Given the description of an element on the screen output the (x, y) to click on. 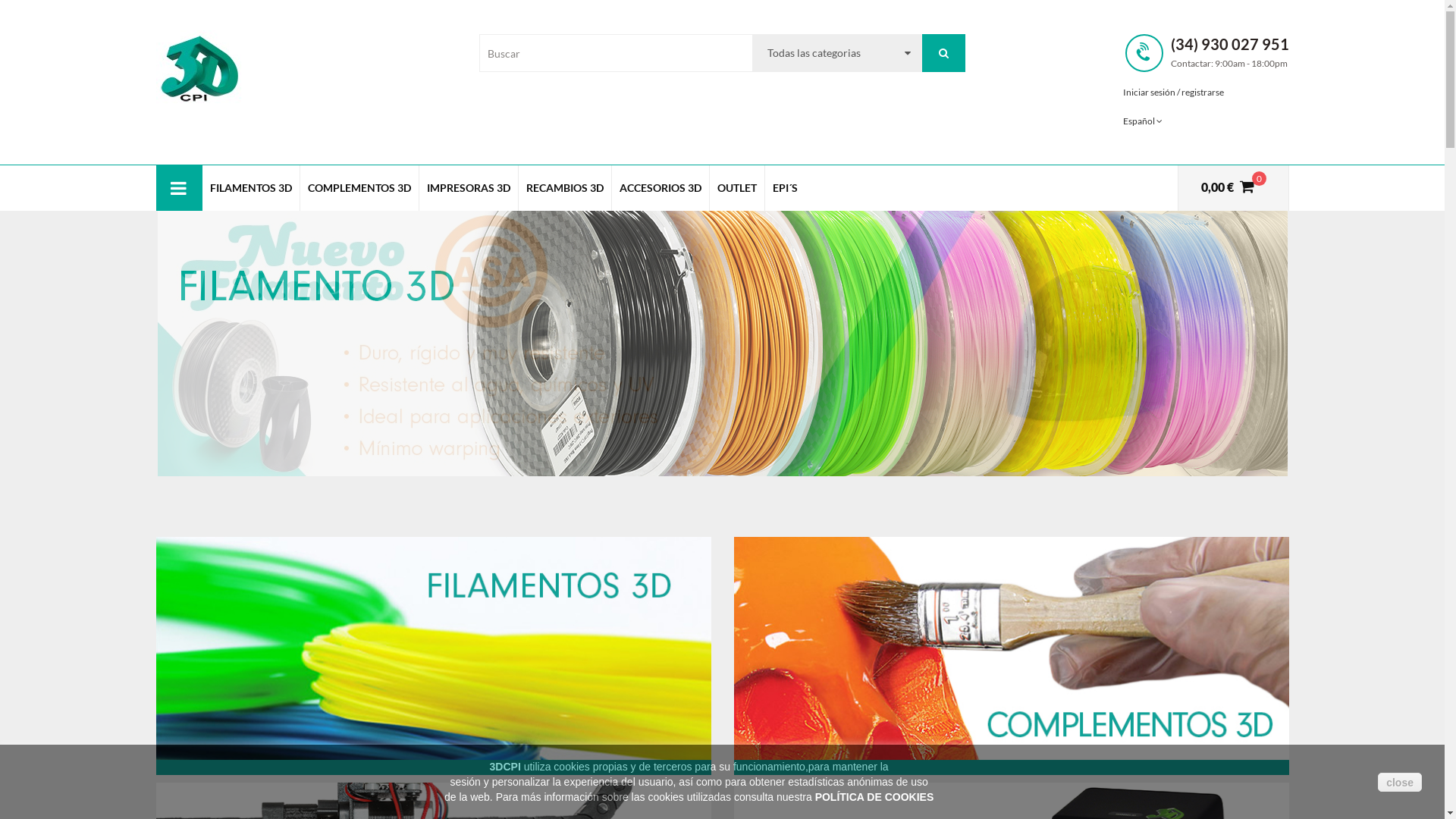
OUTLET Element type: text (736, 187)
RECAMBIOS 3D Element type: text (564, 187)
3DCPI PRODYSOL Element type: hover (199, 65)
FILAMENTOS 3D Element type: text (249, 187)
close Element type: text (1399, 780)
COMPLEMENTOS 3D Element type: text (359, 187)
IMPRESORAS 3D Element type: text (467, 187)
ACCESORIOS 3D Element type: text (659, 187)
